Given the description of an element on the screen output the (x, y) to click on. 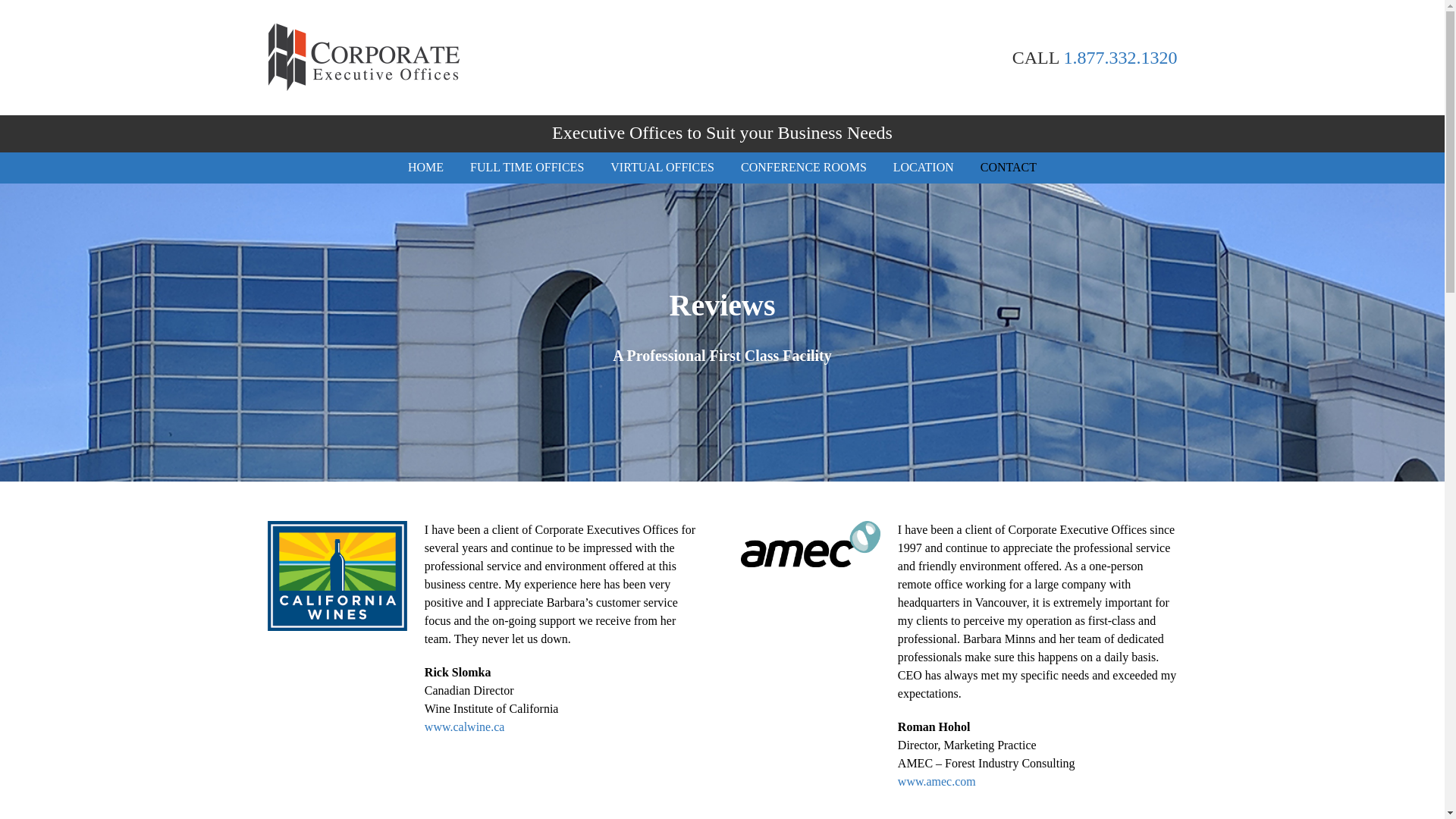
CONTACT (1007, 167)
CONFERENCE ROOMS (803, 167)
1.877.332.1320 (1119, 56)
HOME (425, 167)
FULL TIME OFFICES (526, 167)
LOCATION (923, 167)
VIRTUAL OFFICES (662, 167)
